Given the description of an element on the screen output the (x, y) to click on. 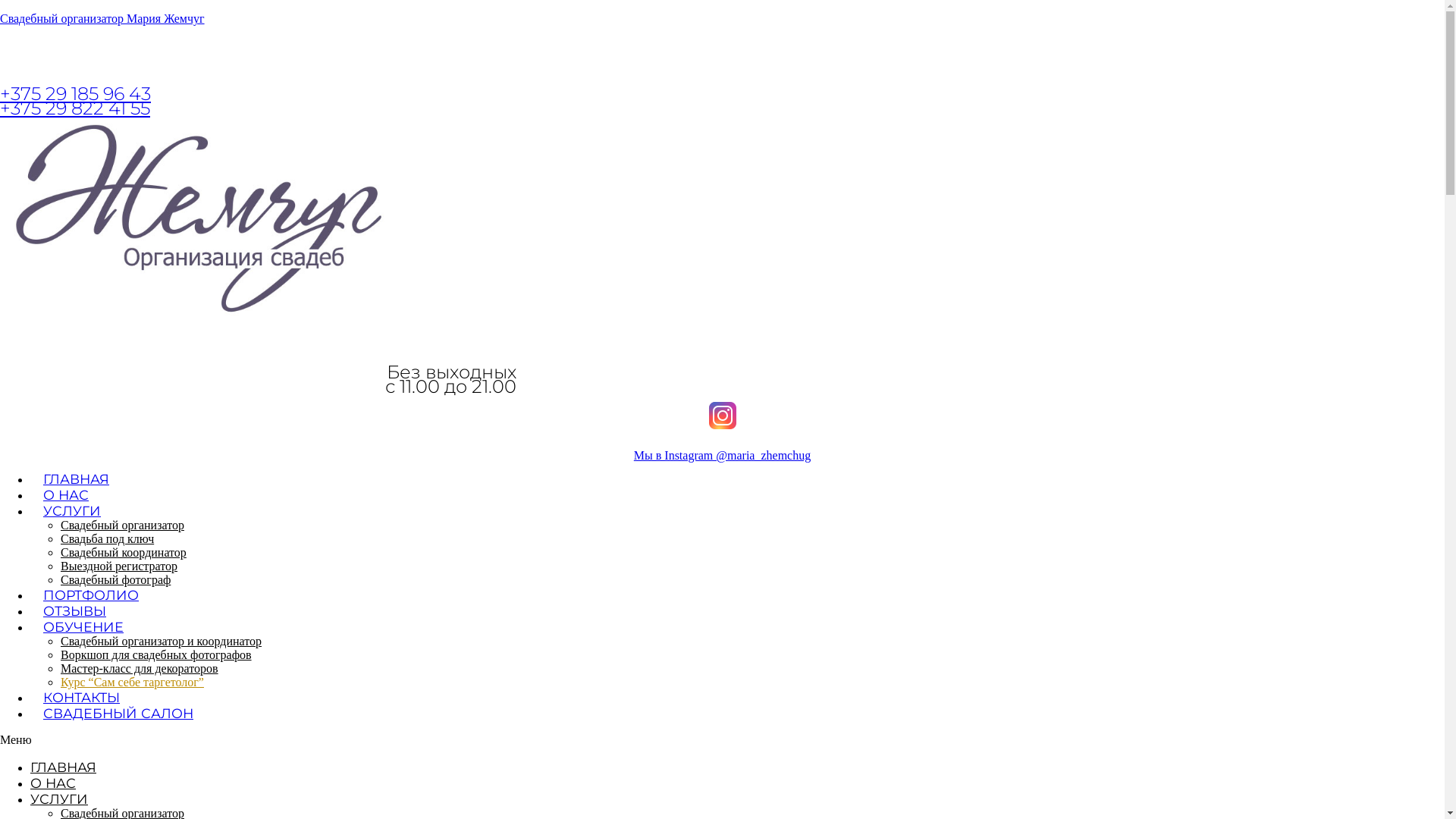
+375 29 185 96 43 Element type: text (75, 93)
+375 29 822 41 55 Element type: text (75, 108)
